Given the description of an element on the screen output the (x, y) to click on. 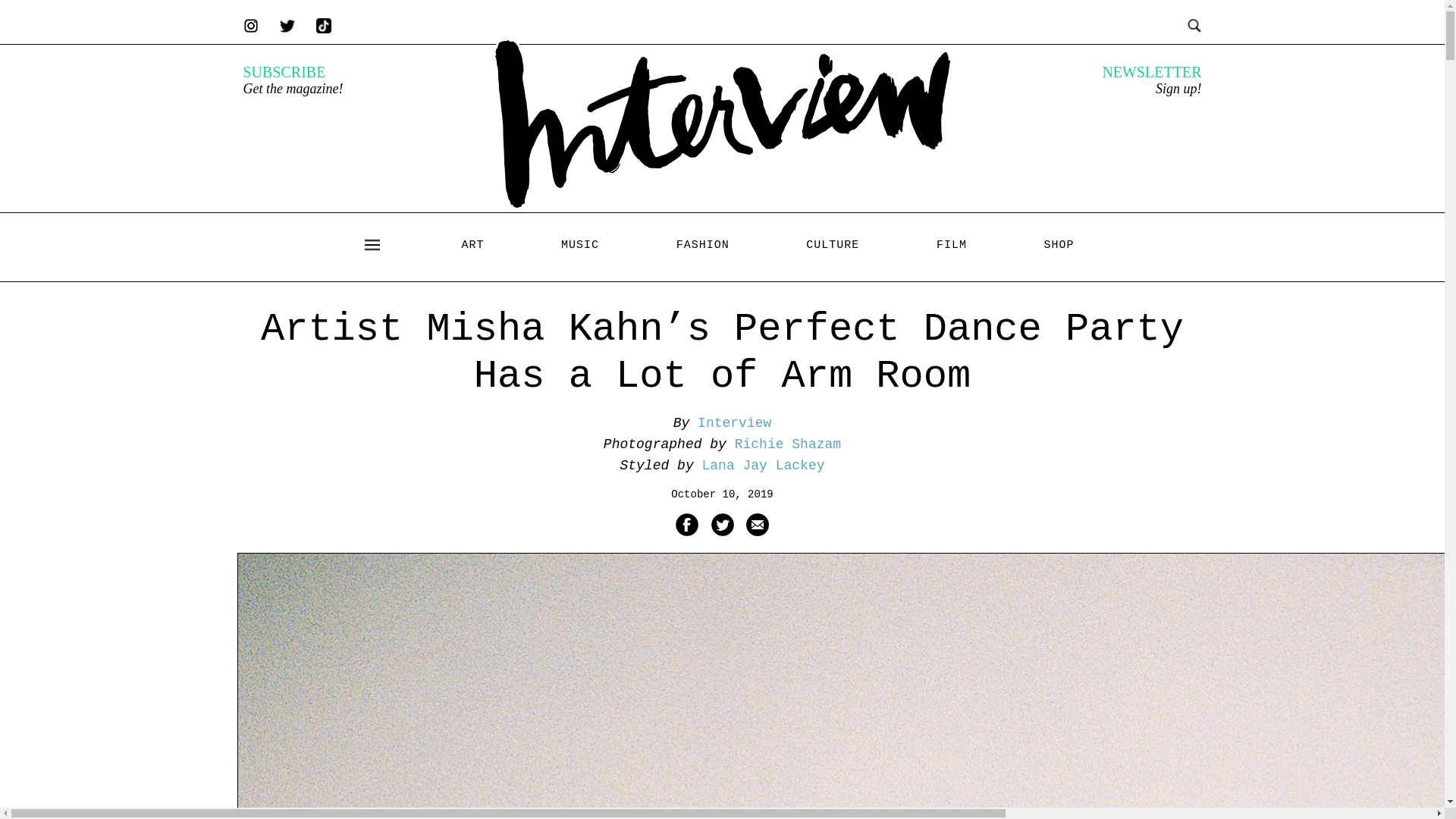
Interview (734, 422)
MUSIC (579, 245)
Richie Shazam (788, 444)
FASHION (703, 245)
SHOP (1058, 245)
ART (472, 245)
Lana Jay Lackey (763, 465)
CULTURE (832, 245)
SUBSCRIBE (283, 71)
Posts by Interview (734, 422)
FILM (951, 245)
NEWSLETTER (1151, 71)
